Given the description of an element on the screen output the (x, y) to click on. 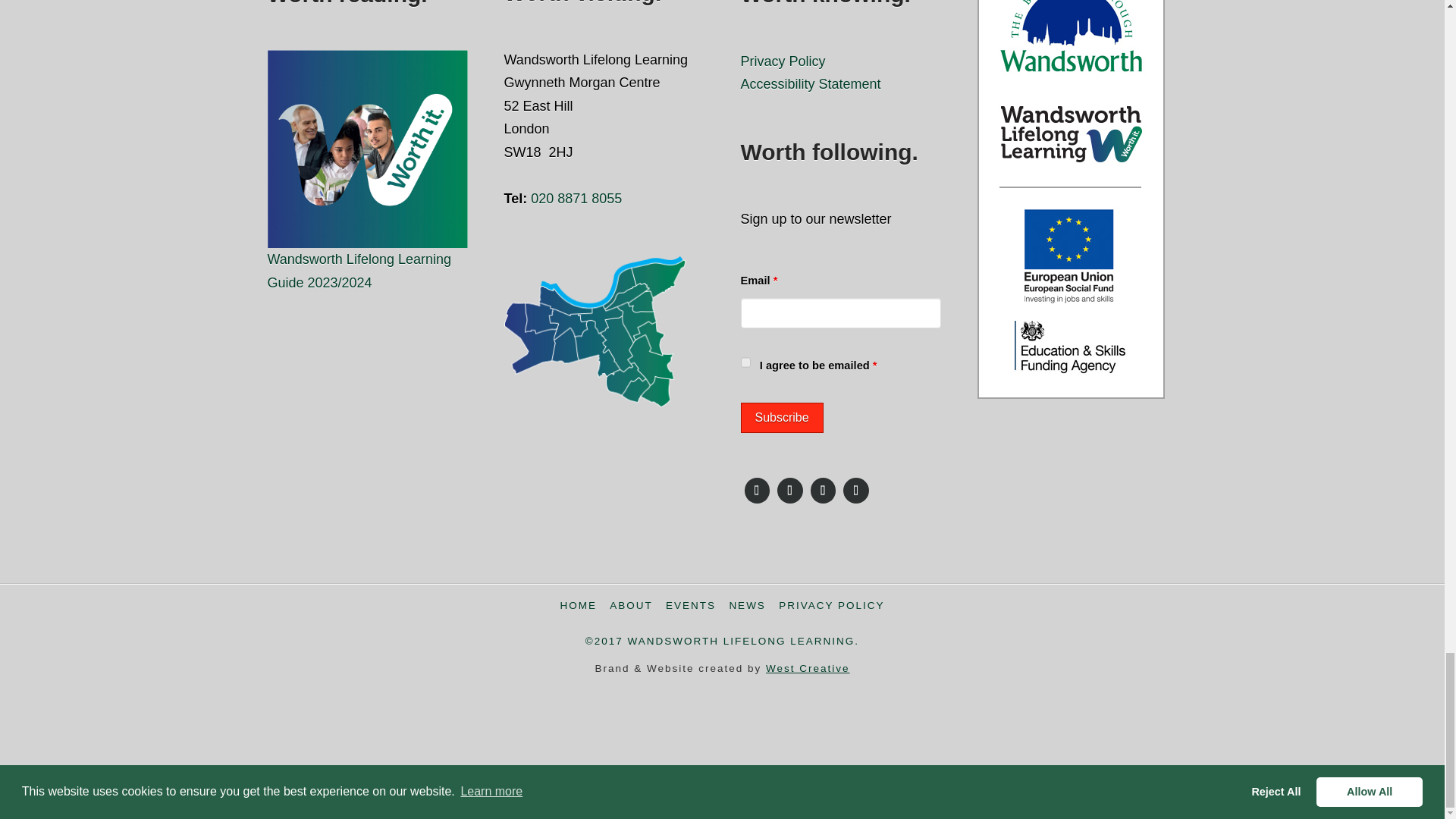
X (789, 490)
Linkedin (856, 490)
Instagram (823, 490)
Facebook (756, 490)
Subscribe (780, 417)
